Given the description of an element on the screen output the (x, y) to click on. 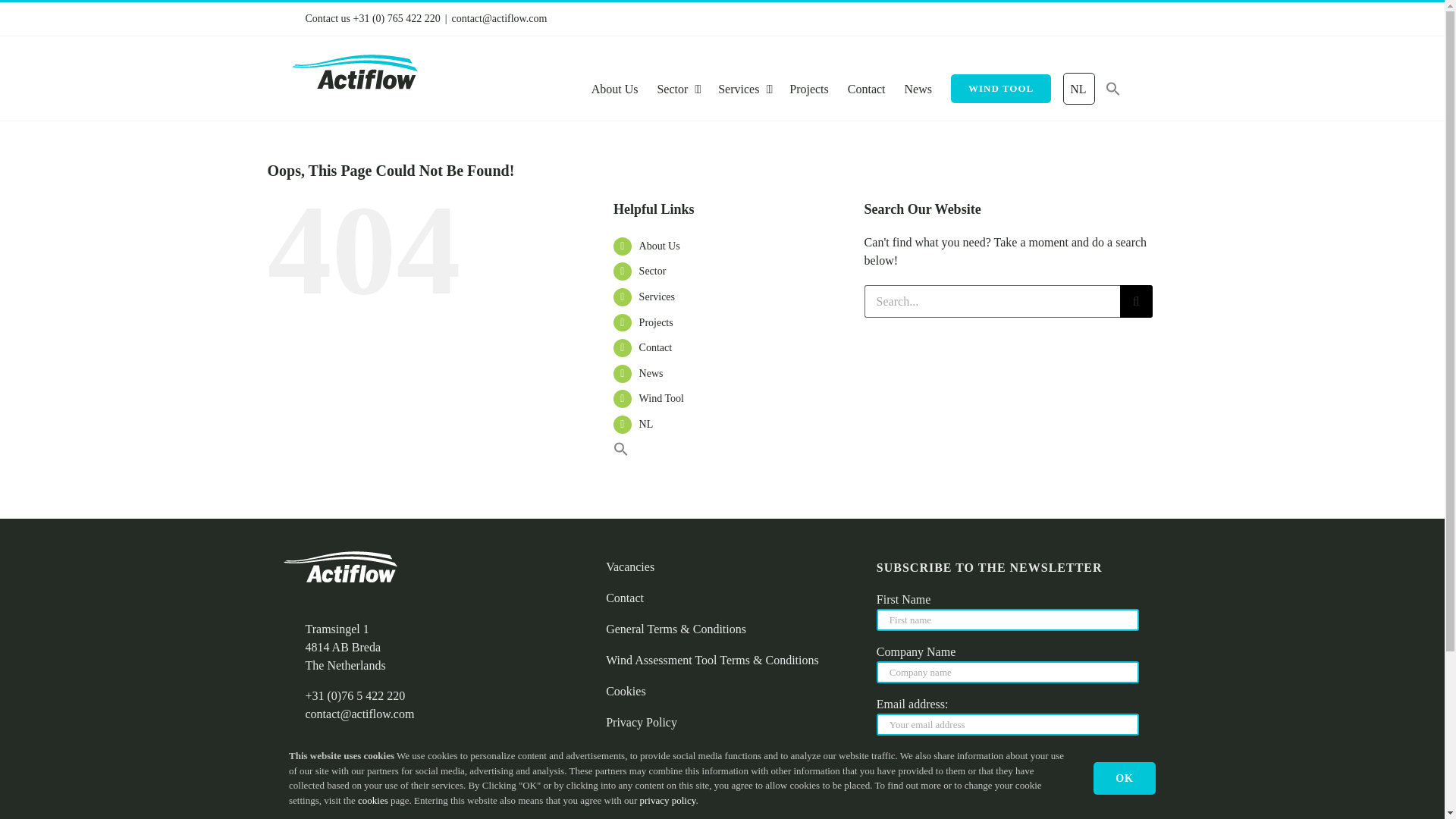
Contact us +31 (0) 765 422 220 Element type: text (371, 18)
contact@actiflow.com Element type: text (359, 713)
Contact Element type: text (866, 88)
NL Element type: text (1077, 88)
WIND TOOL Element type: text (1000, 88)
About Us Element type: text (614, 88)
Wind Tool Element type: text (661, 398)
cookies Element type: text (372, 800)
contact@actiflow.com Element type: text (499, 18)
Projects Element type: text (808, 88)
Services Element type: text (656, 296)
News Element type: text (651, 373)
Wind Assessment Tool Terms & Conditions Element type: text (721, 660)
NL Element type: text (740, 424)
Sector Element type: text (652, 270)
privacy policy Element type: text (668, 800)
General Terms & Conditions Element type: text (721, 629)
Cookies Element type: text (721, 691)
OK Element type: text (1124, 777)
4814 AB Breda Element type: text (342, 646)
+31 (0)76 5 422 220 Element type: text (354, 695)
Contact Element type: text (721, 598)
The Netherlands Element type: text (344, 664)
News Element type: text (917, 88)
Privacy Policy Element type: text (721, 722)
About Us Element type: text (659, 245)
Projects Element type: text (656, 322)
Contact Element type: text (655, 347)
Vacancies Element type: text (721, 567)
Services Element type: text (744, 88)
Sector Element type: text (677, 88)
Tramsingel 1 Element type: text (336, 628)
